Given the description of an element on the screen output the (x, y) to click on. 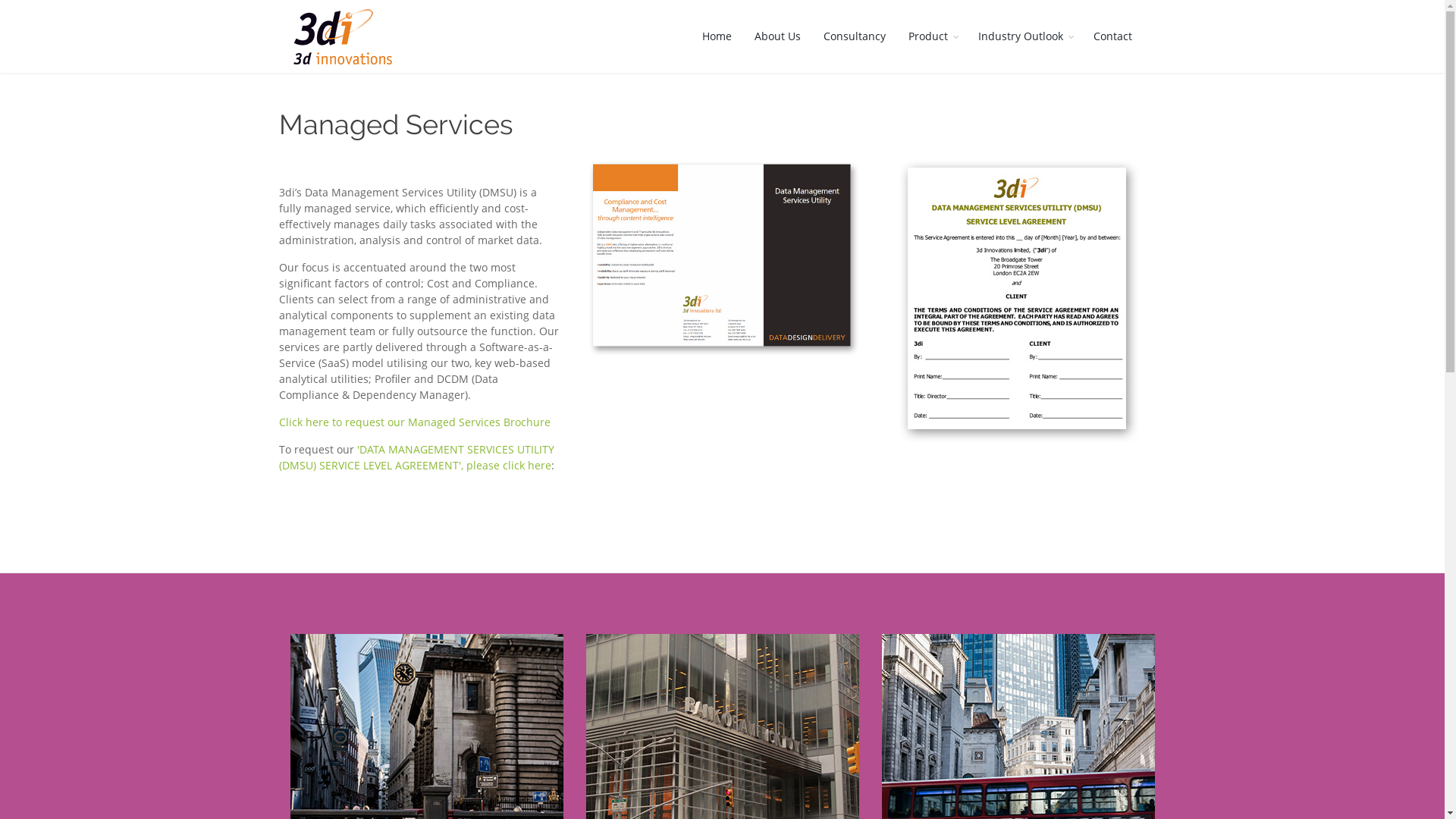
Home Element type: text (716, 36)
Consultancy Element type: text (853, 36)
About Us Element type: text (777, 36)
Product Element type: text (931, 36)
Industry Outlook Element type: text (1023, 36)
Click here to request our Managed Services Brochure Element type: text (414, 421)
Contact Element type: text (1111, 36)
